Given the description of an element on the screen output the (x, y) to click on. 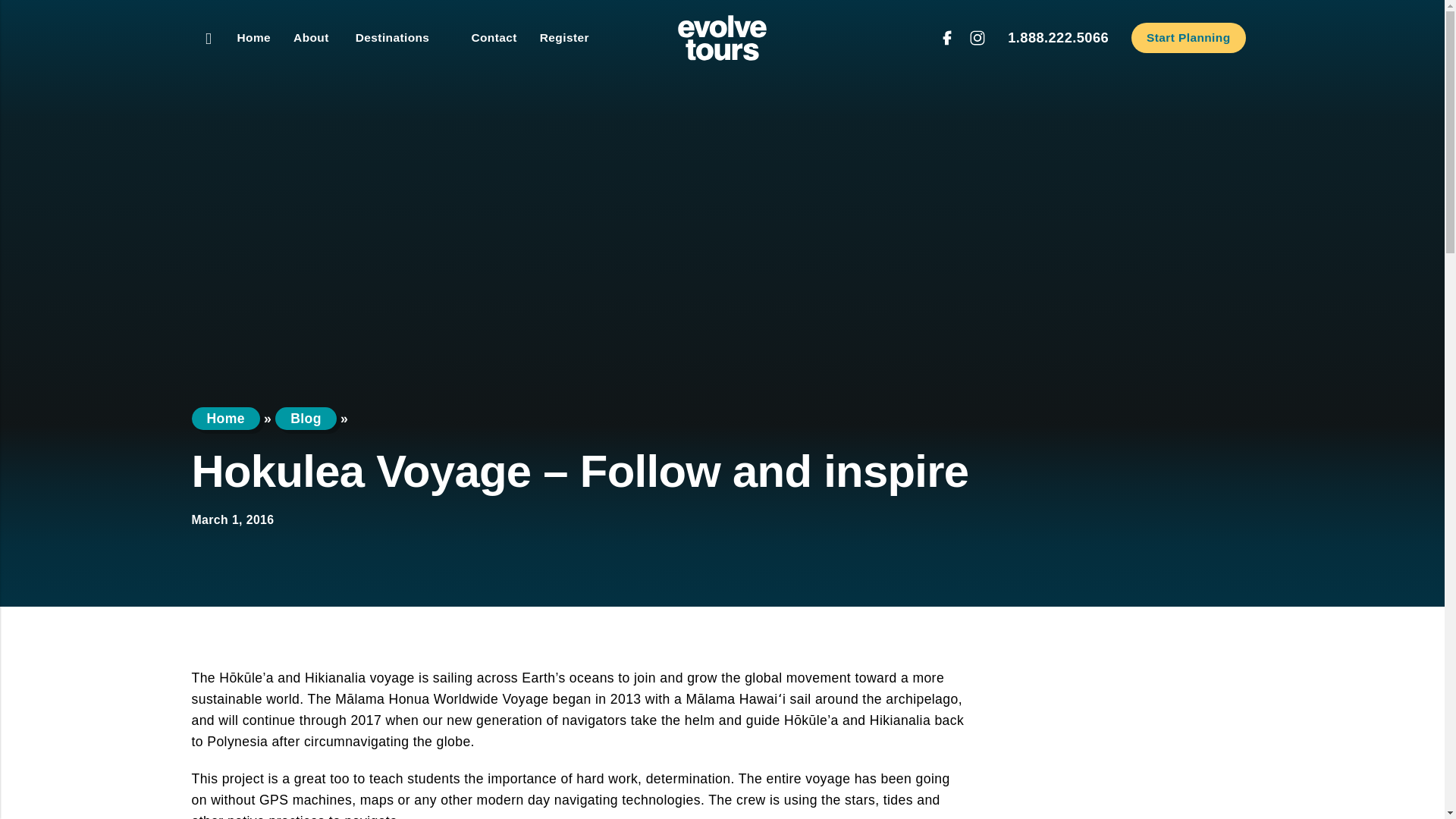
Destinations (400, 38)
Home (253, 38)
Contact (493, 38)
Start Planning (1187, 37)
Blog (305, 418)
Register (563, 38)
About (311, 38)
1.888.222.5066 (1057, 37)
Home (224, 418)
